Given the description of an element on the screen output the (x, y) to click on. 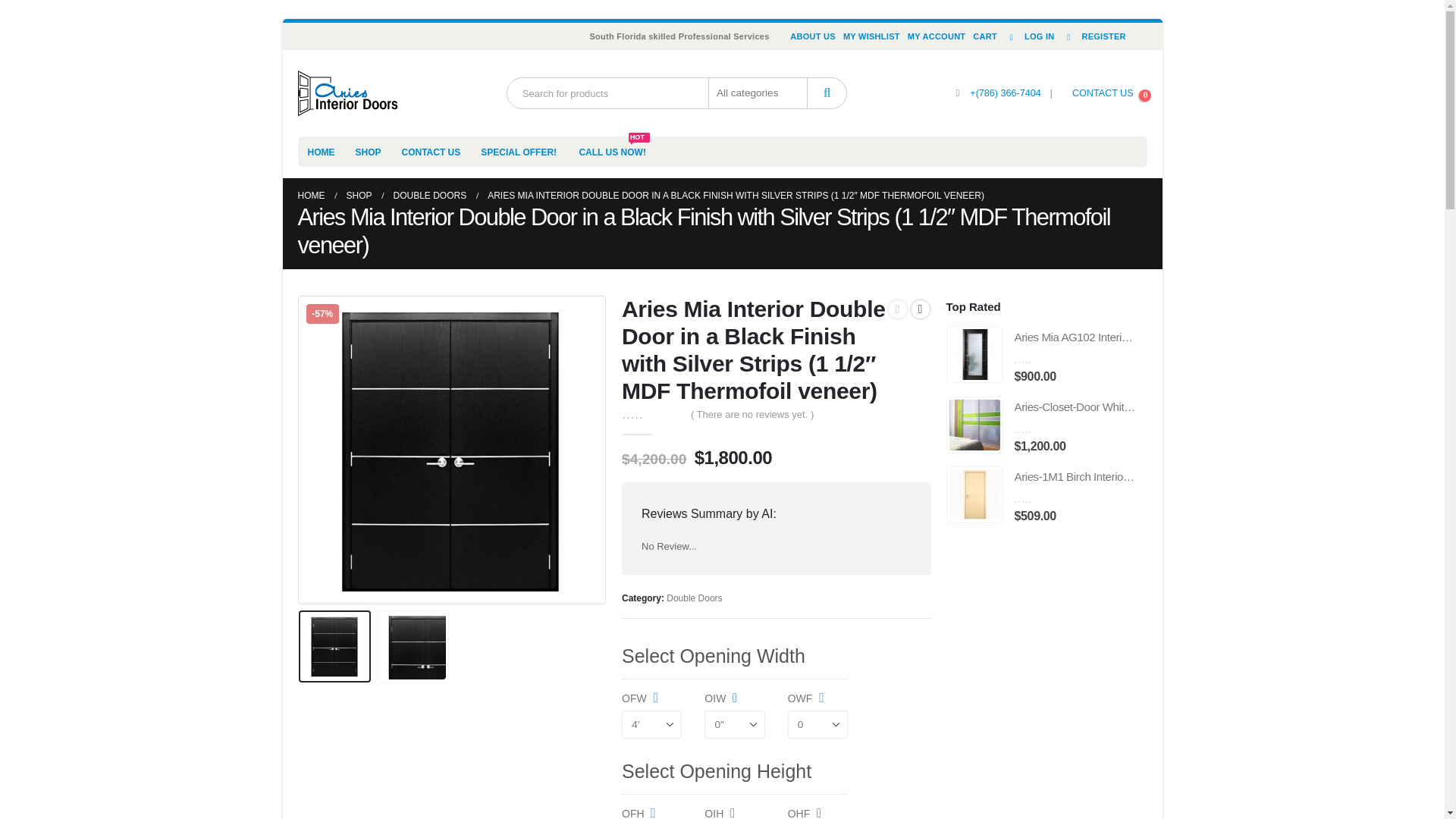
LOG IN (1029, 35)
Aries Interior Doors - Interior Doors in Miami Area (347, 93)
CONTACT US (430, 151)
CONTACT US (1102, 93)
REGISTER (1093, 35)
CART (985, 35)
Double Doors (694, 597)
Go to Home Page (310, 195)
SHOP (358, 195)
DOUBLE DOORS (430, 195)
Search (827, 92)
MY WISHLIST (872, 35)
MY ACCOUNT (936, 35)
ABOUT US (813, 35)
